Given the description of an element on the screen output the (x, y) to click on. 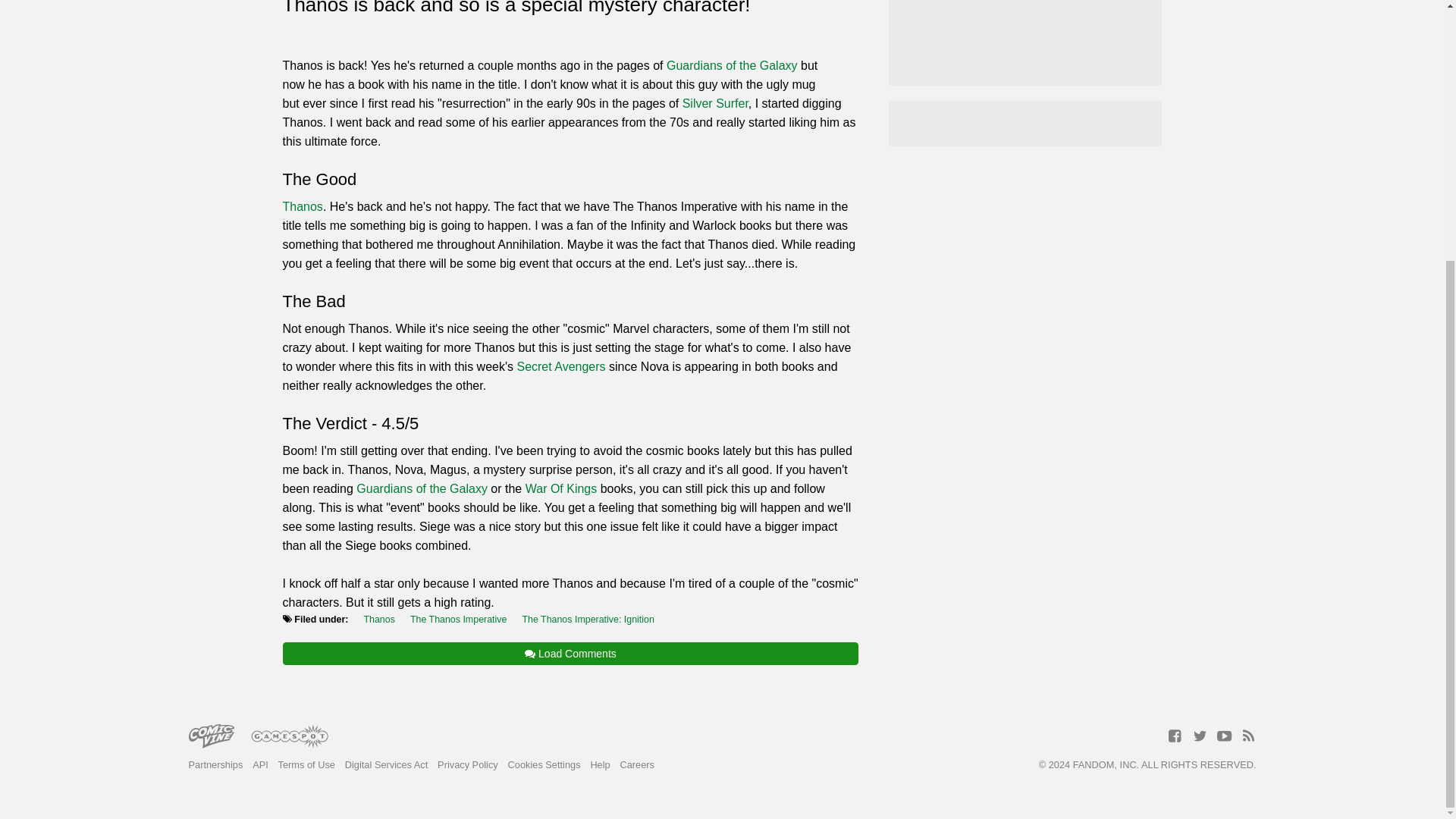
GameSpot (289, 736)
Comic Vine (209, 736)
RSS (1248, 736)
